Given the description of an element on the screen output the (x, y) to click on. 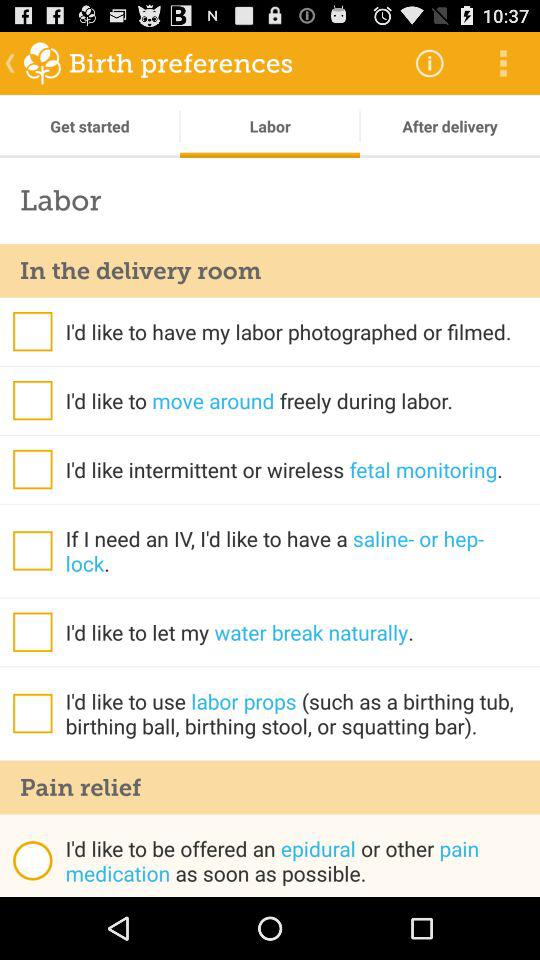
select option (32, 469)
